Given the description of an element on the screen output the (x, y) to click on. 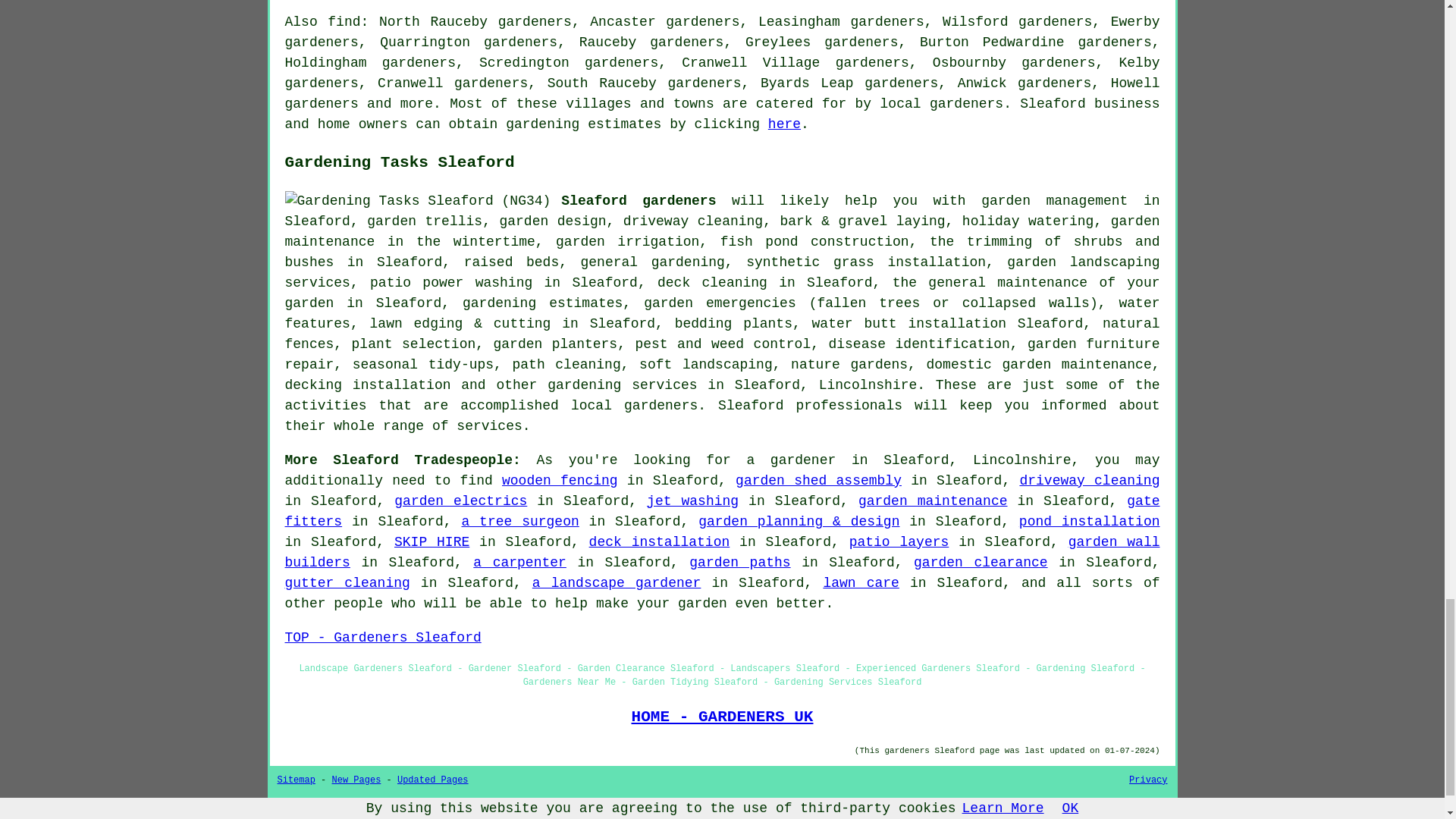
local gardeners (942, 103)
QUOTES FROM GARDENERS SLEAFORD (721, 805)
gardening (542, 124)
garden landscaping services (722, 272)
general gardening (652, 262)
the general maintenance of your garden (722, 293)
